Given the description of an element on the screen output the (x, y) to click on. 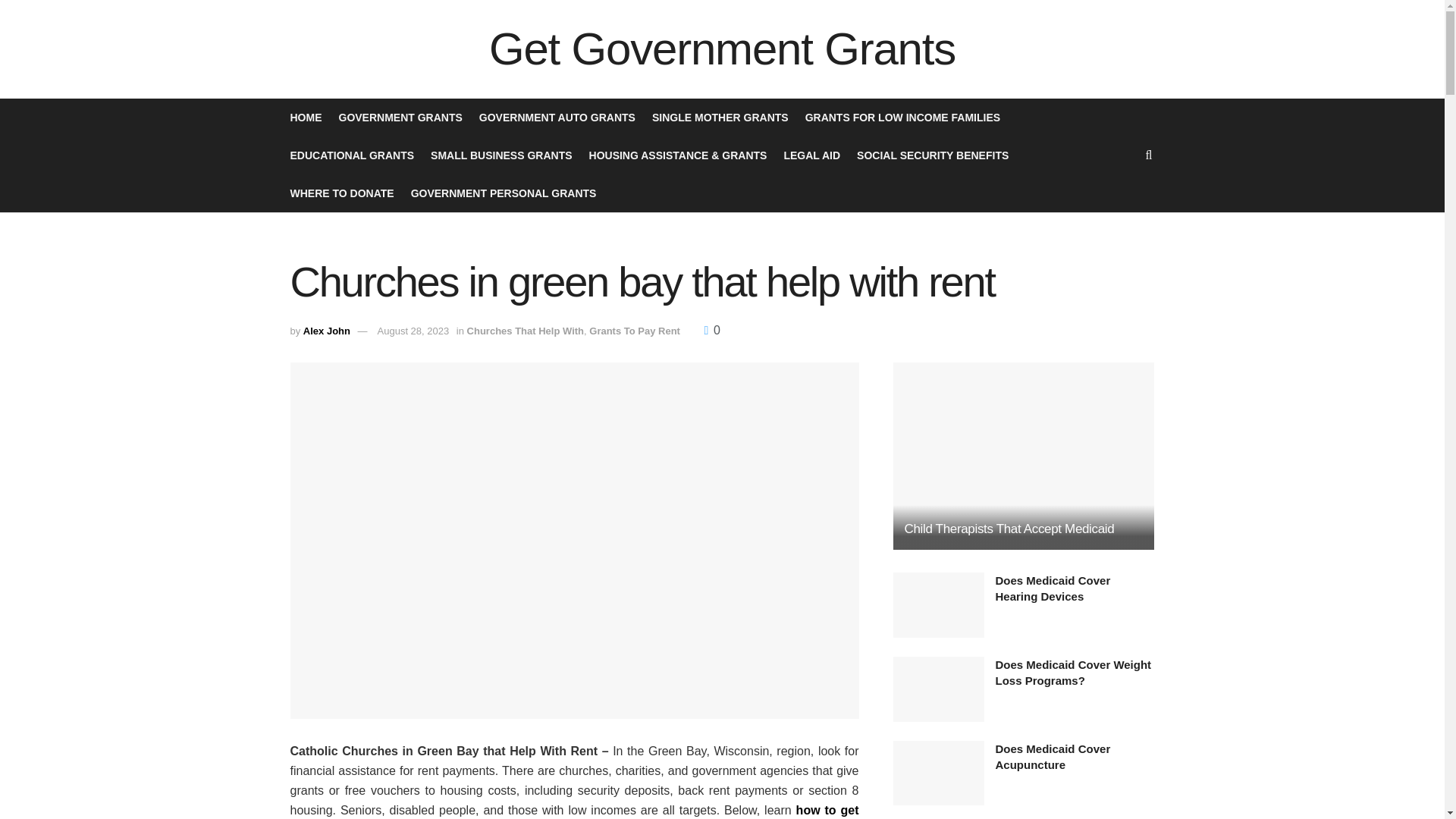
SOCIAL SECURITY BENEFITS (933, 155)
GOVERNMENT AUTO GRANTS (556, 117)
0 (712, 329)
EDUCATIONAL GRANTS (351, 155)
Grants To Pay Rent (634, 330)
GOVERNMENT PERSONAL GRANTS (503, 192)
WHERE TO DONATE (341, 192)
GRANTS FOR LOW INCOME FAMILIES (902, 117)
how to get help with churches that help with rent (574, 811)
Get Government Grants (722, 49)
